Given the description of an element on the screen output the (x, y) to click on. 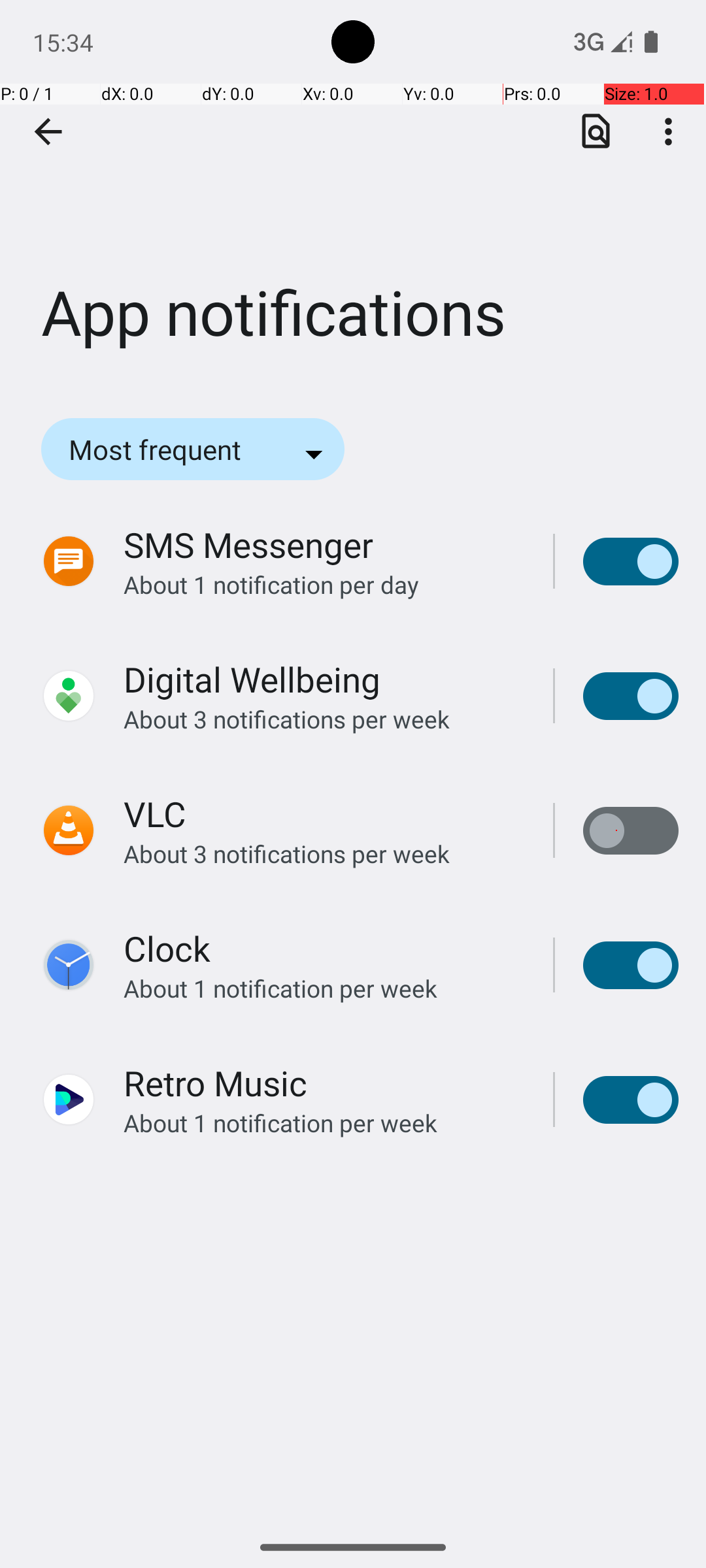
App notifications Element type: android.widget.FrameLayout (353, 195)
Most frequent Element type: android.widget.TextView (172, 448)
About 1 notification per day Element type: android.widget.TextView (324, 584)
Digital Wellbeing Element type: android.widget.TextView (252, 678)
About 3 notifications per week Element type: android.widget.TextView (324, 718)
About 1 notification per week Element type: android.widget.TextView (324, 987)
